Given the description of an element on the screen output the (x, y) to click on. 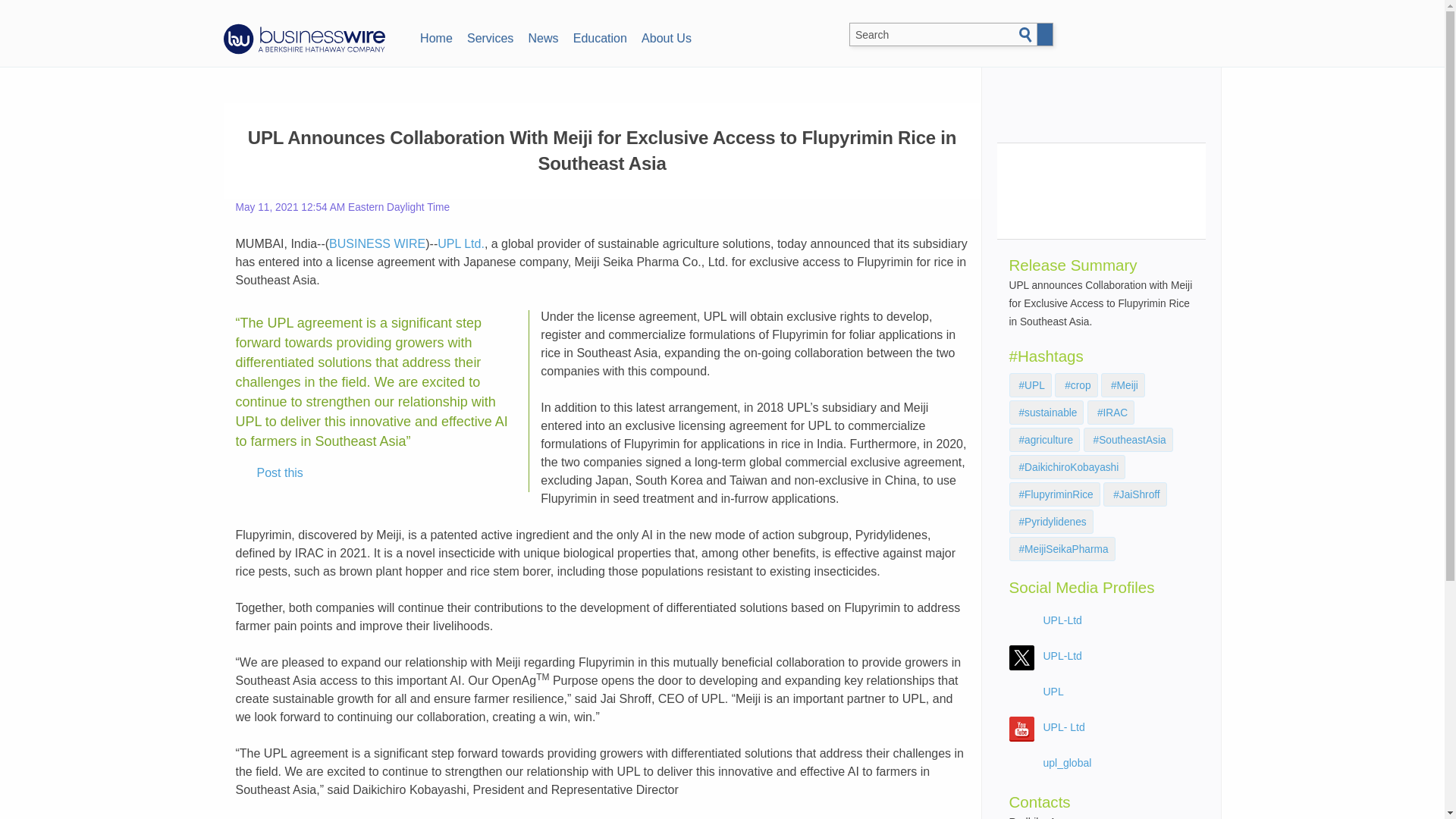
Post this (269, 472)
Search BusinessWire.com (948, 34)
UPL Ltd. (461, 243)
UPL- Ltd (1063, 727)
Services (490, 36)
UPL (1053, 691)
Home (436, 36)
UPL-Ltd (1062, 655)
UPL-Ltd (1062, 620)
Education (599, 36)
Search (1025, 34)
BUSINESS WIRE (377, 243)
News (543, 36)
